Given the description of an element on the screen output the (x, y) to click on. 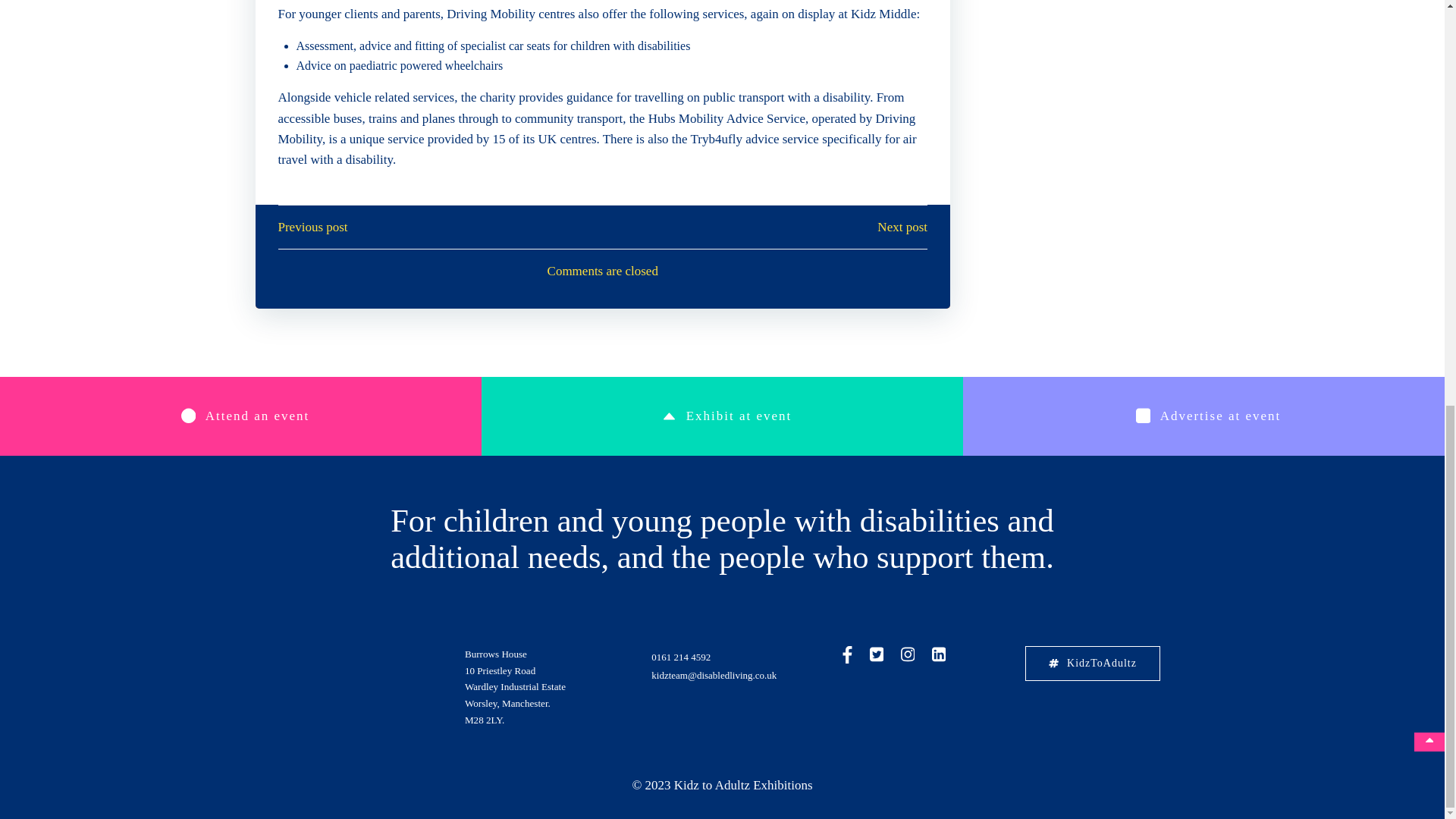
0161 214 4592 (680, 657)
Exhibit at event (722, 416)
Next post (902, 227)
Advertise at event (1203, 416)
Attend an event (240, 416)
KidzToAdultz (1092, 663)
Previous post (312, 227)
